Given the description of an element on the screen output the (x, y) to click on. 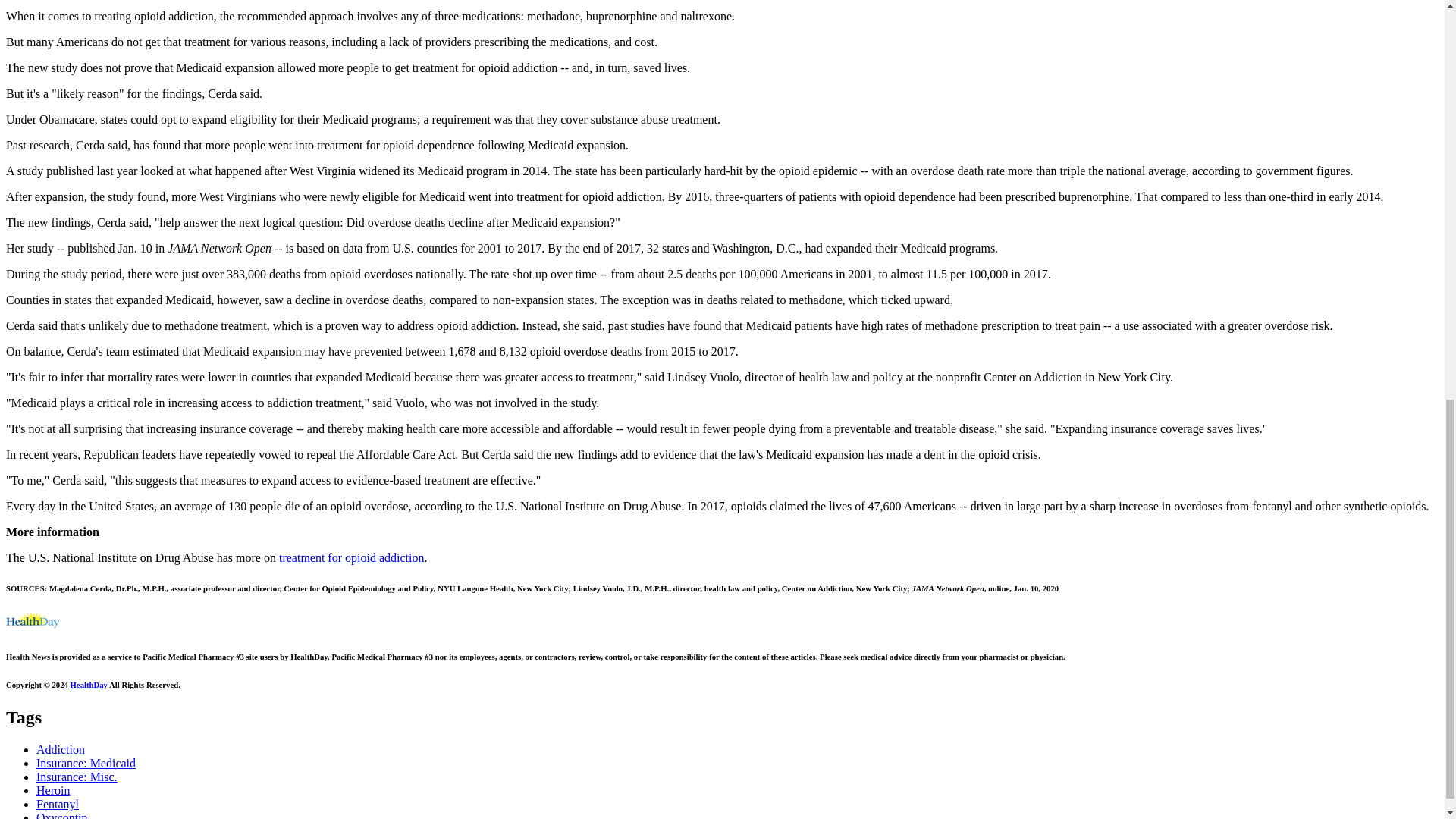
Addiction (60, 748)
treatment for opioid addiction (352, 557)
Insurance: Misc. (76, 776)
Fentanyl (57, 803)
Insurance: Medicaid (85, 762)
Heroin (52, 789)
HealthDay (88, 683)
